Given the description of an element on the screen output the (x, y) to click on. 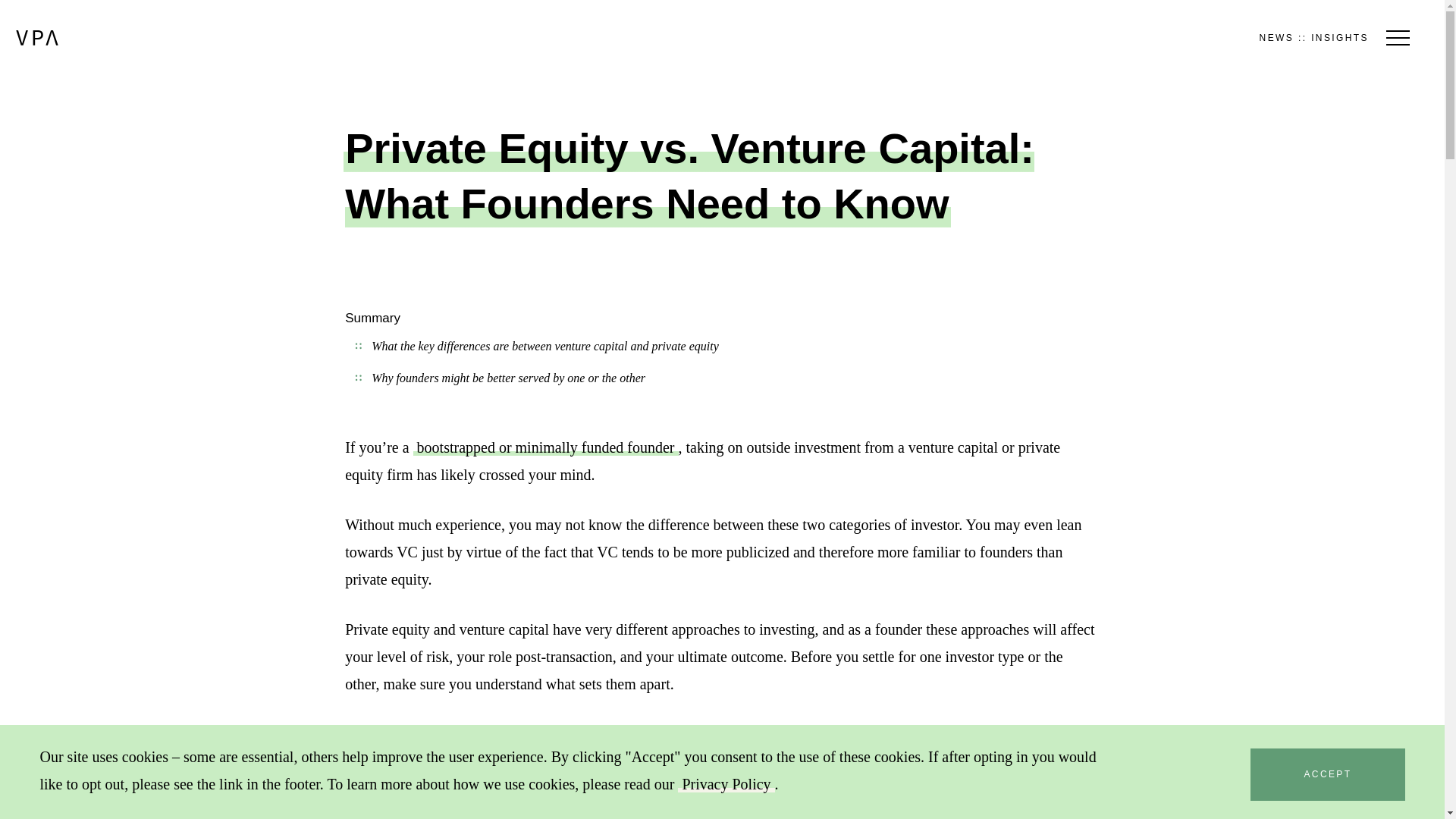
Go back to homepage (37, 37)
INSIGHTS (1339, 36)
bootstrapped or minimally funded founder (545, 446)
NEWS (1276, 36)
